Given the description of an element on the screen output the (x, y) to click on. 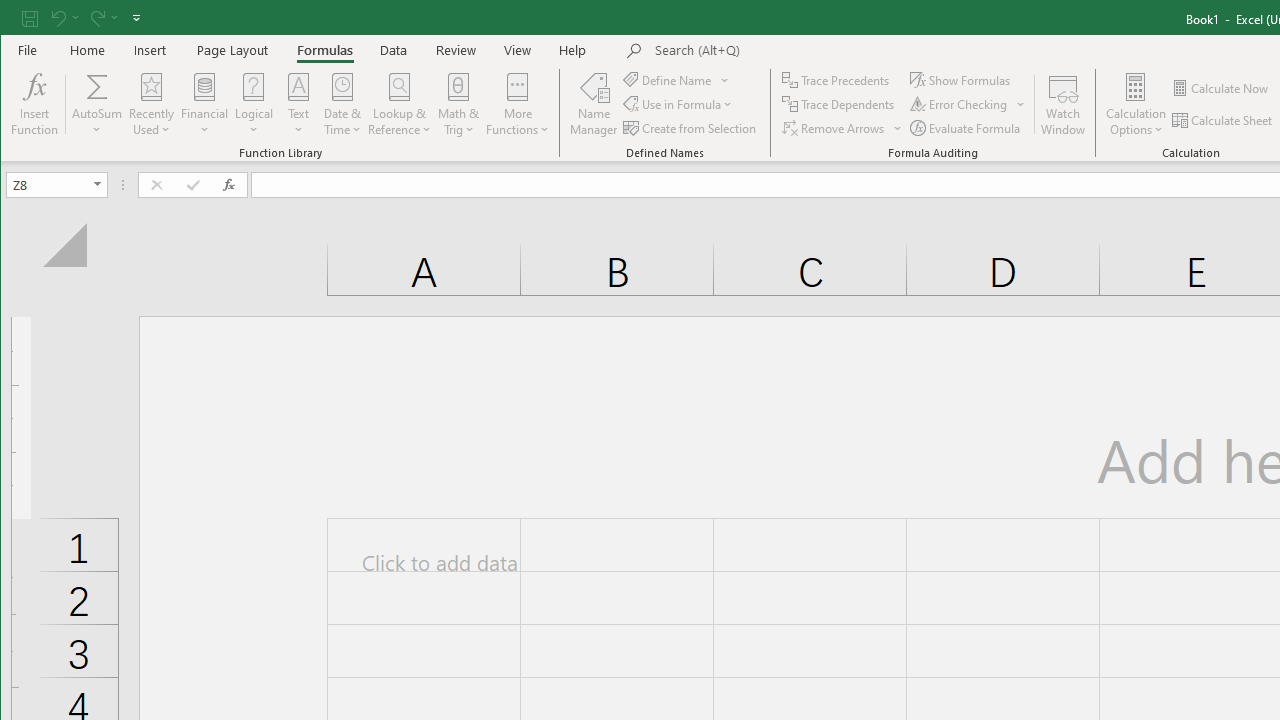
Calculate Now (1221, 88)
Sum (97, 86)
Text (298, 104)
Recently Used (151, 104)
Math & Trig (459, 104)
Remove Arrows (843, 127)
Show Formulas (962, 80)
Remove Arrows (834, 127)
